Given the description of an element on the screen output the (x, y) to click on. 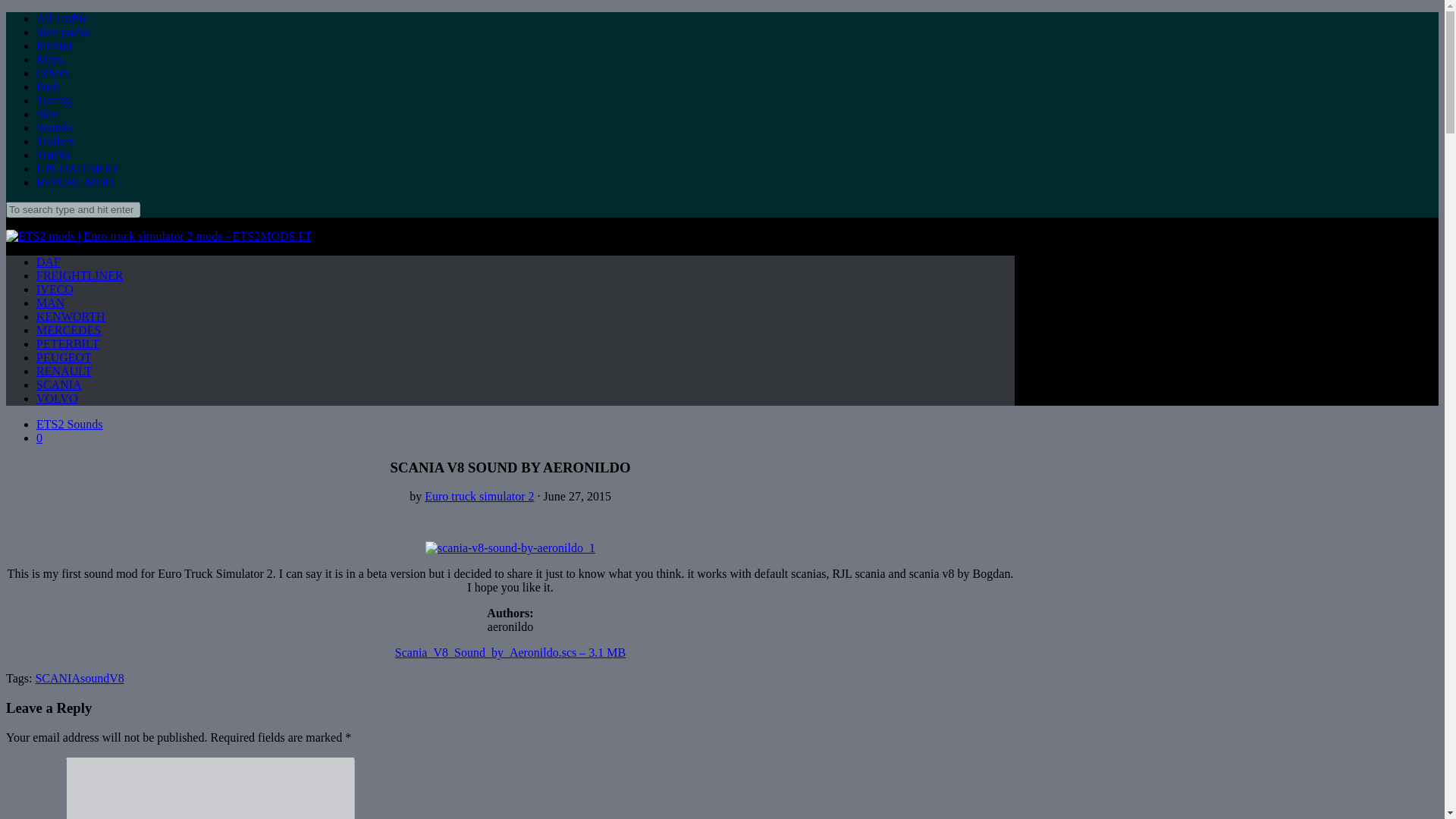
PETERBILT (67, 343)
UPLOAD MOD (76, 168)
MAN (50, 302)
Sounds (53, 127)
sound (94, 677)
To search type and hit enter (72, 209)
Interior (54, 45)
Tuning (53, 100)
Posts by Euro truck simulator 2 (479, 495)
Euro truck simulator 2 (479, 495)
Skin (47, 113)
Trucks (52, 154)
DAF (48, 261)
V8 (116, 677)
0 (39, 437)
